Given the description of an element on the screen output the (x, y) to click on. 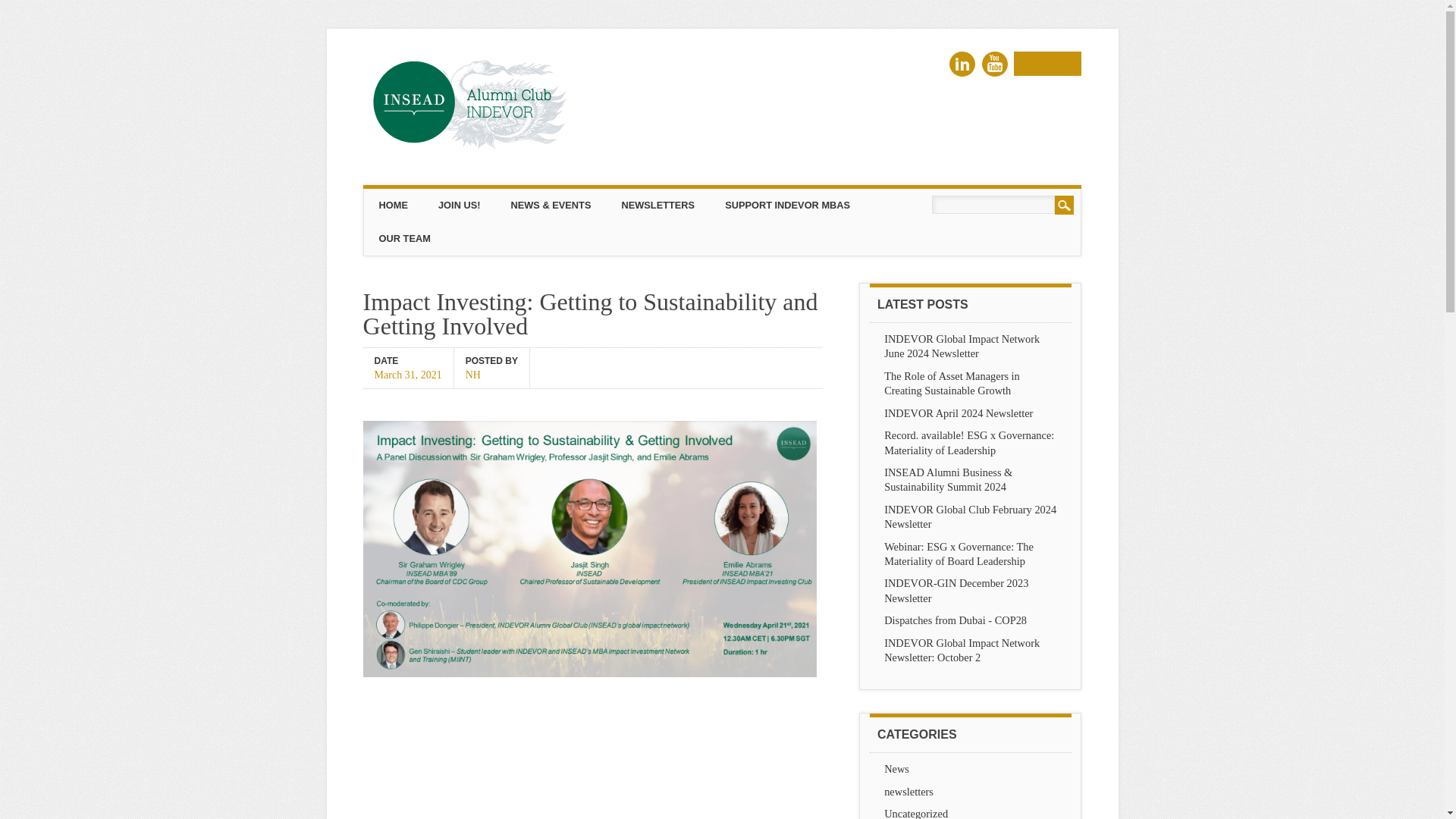
Linkedin (962, 63)
NH (491, 373)
Email (1047, 63)
NEWSLETTERS (657, 205)
SUPPORT INDEVOR MBAS (787, 205)
Look INDEVOR-GIN December 2023 Newsletter (955, 590)
JOIN US! (459, 205)
Youtube (994, 63)
Search (1064, 204)
